Given the description of an element on the screen output the (x, y) to click on. 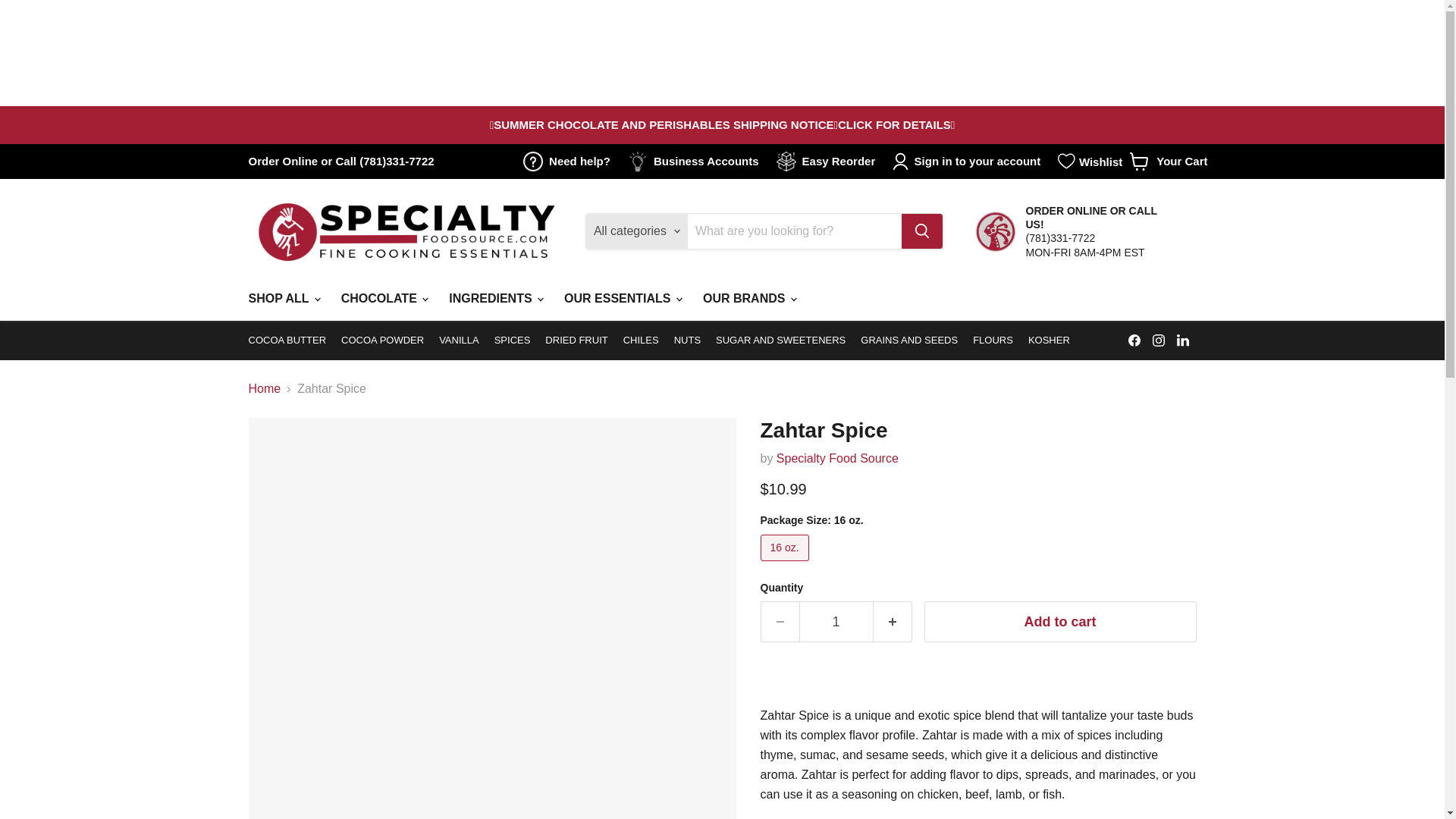
Instagram (1158, 340)
Facebook (1134, 340)
LinkedIn (1182, 340)
Specialty Food Source (837, 458)
Easy Reorder (829, 161)
Business Accounts (696, 161)
Sign in to your account (969, 161)
Need help? (568, 161)
1 (1168, 160)
